Given the description of an element on the screen output the (x, y) to click on. 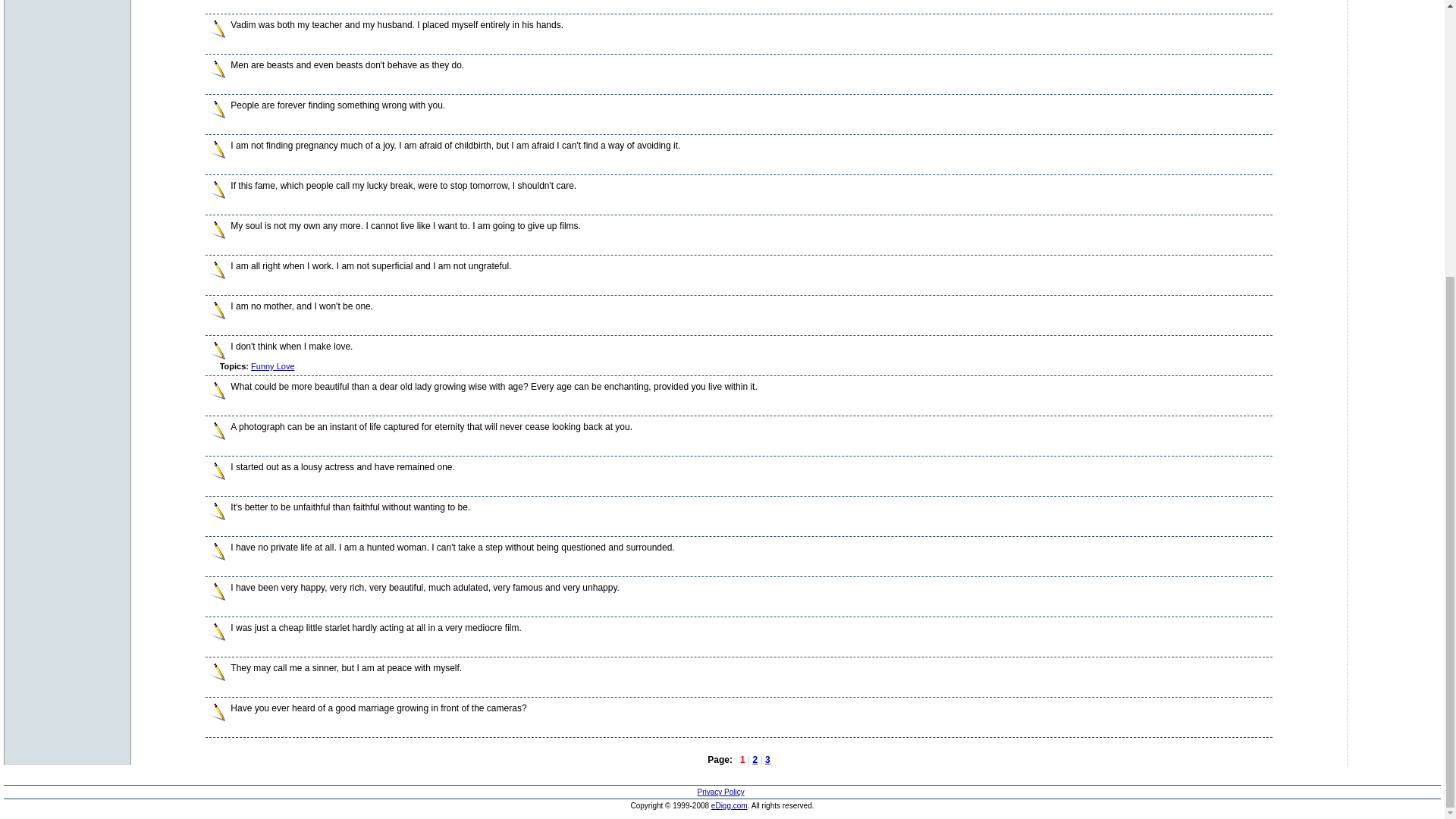
Funny Love (272, 366)
